Given the description of an element on the screen output the (x, y) to click on. 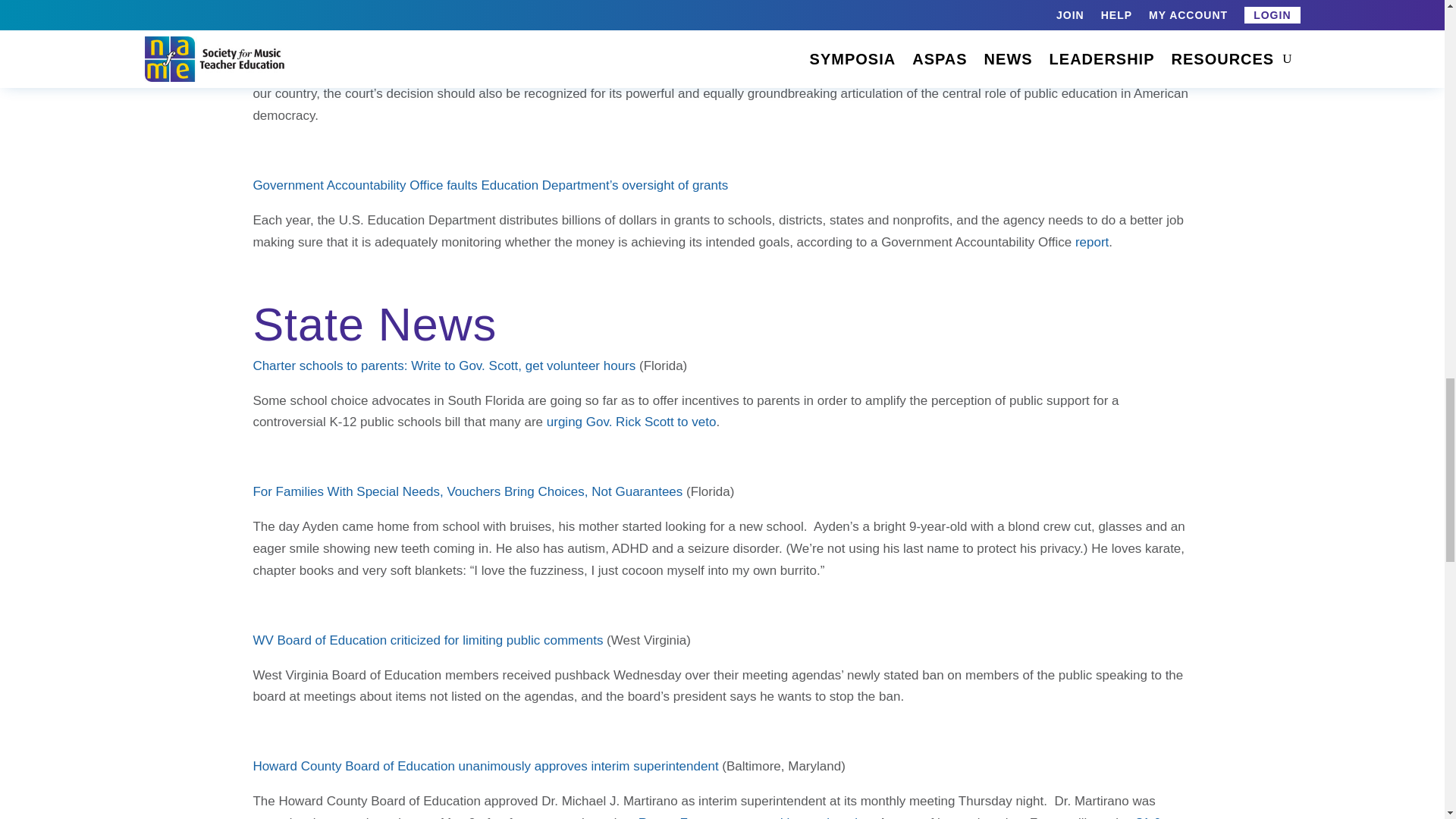
Renee Foose announced her resignation (755, 817)
urging Gov. Rick Scott to veto (631, 421)
report (1091, 242)
DeVos has a lot to learn about education and race (394, 15)
